Given the description of an element on the screen output the (x, y) to click on. 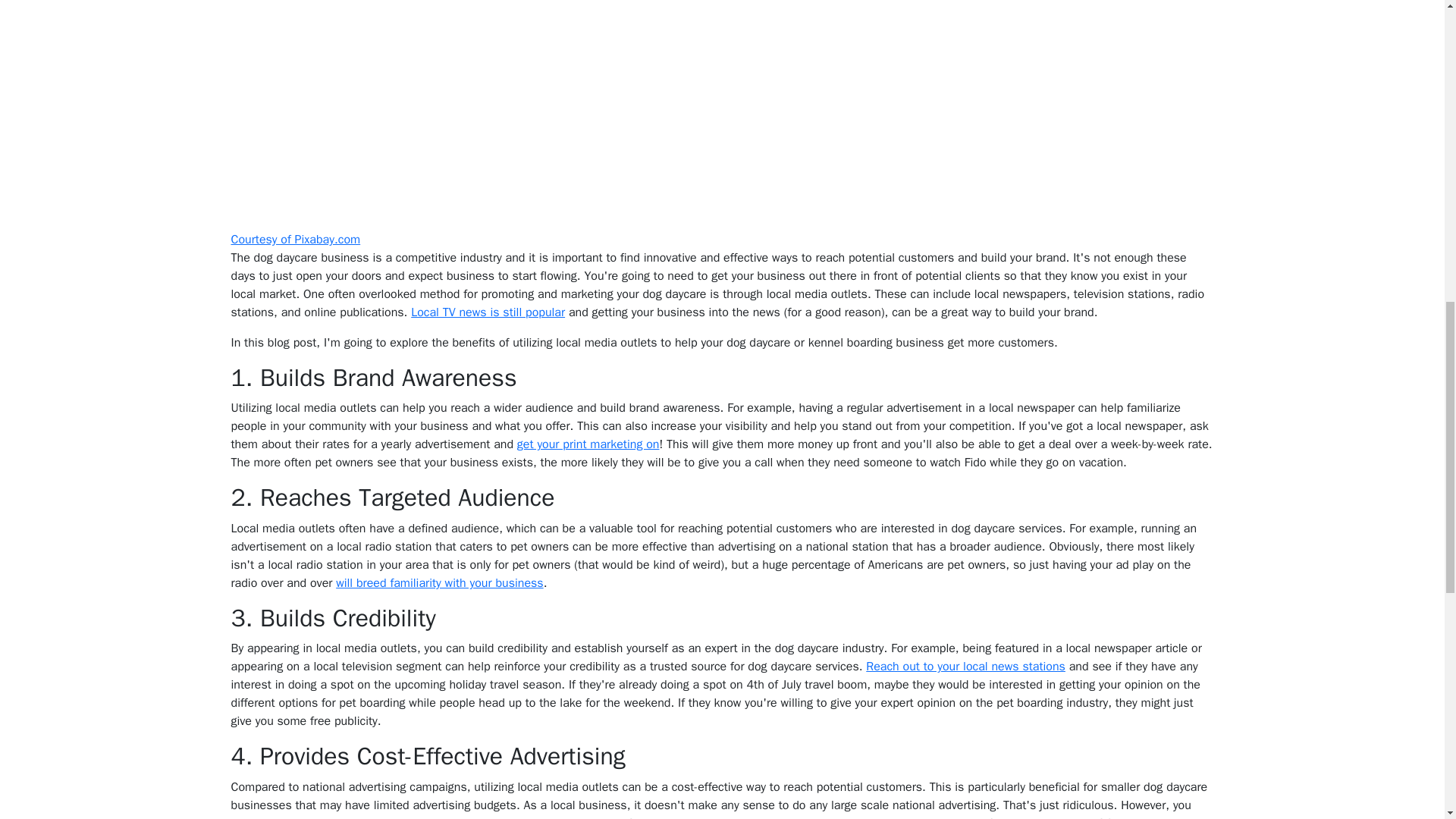
click here to visit the blog homepage. (932, 608)
Reach out to your local news stations (965, 64)
Terms of Service (649, 807)
Business Tools (796, 807)
Privacy Policy (725, 807)
Doggie Dashboard (722, 787)
getting on local TV will definitely help build your brand (535, 377)
People like to support businesses that support the community (1006, 460)
